Given the description of an element on the screen output the (x, y) to click on. 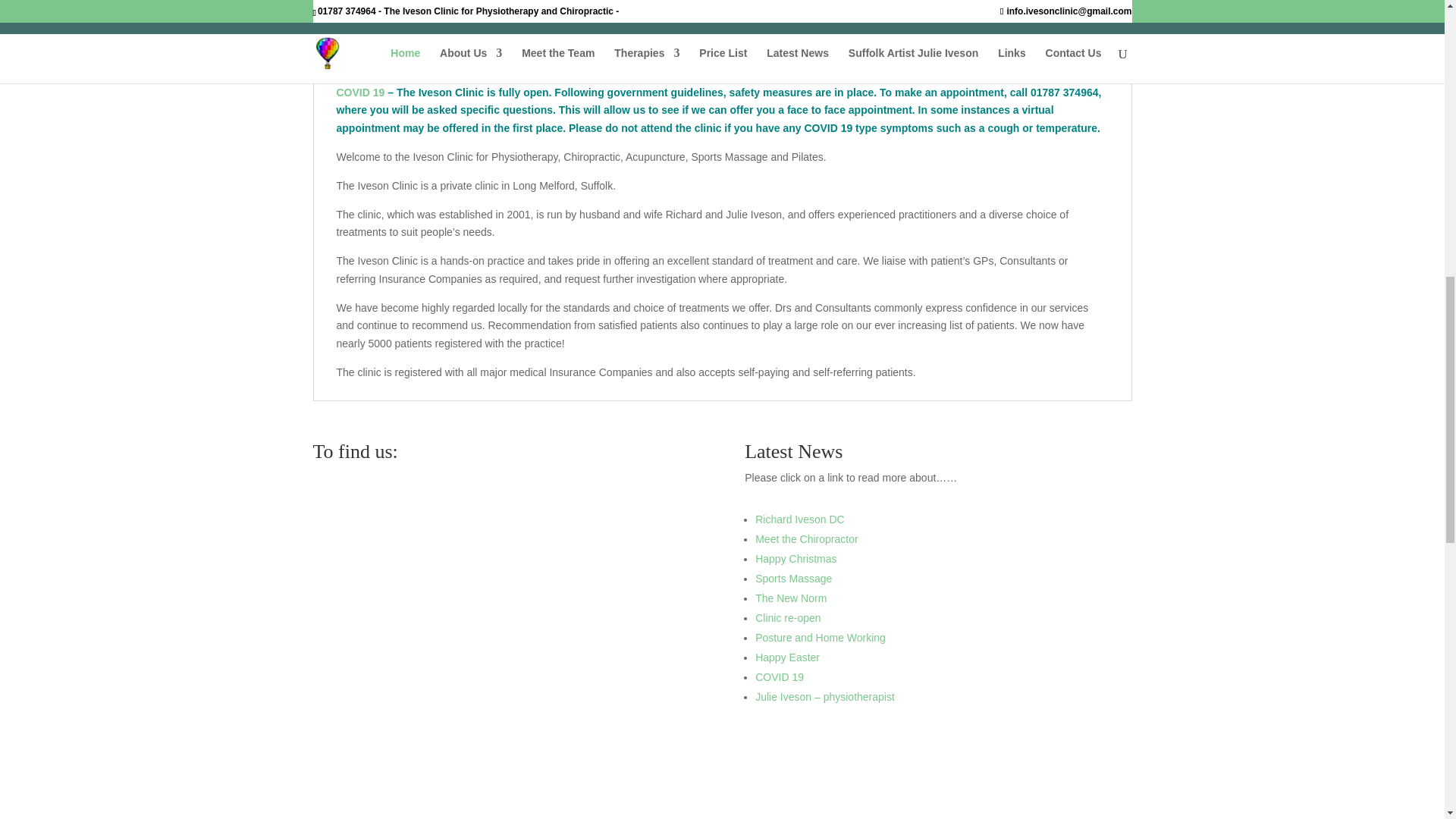
Meet the Chiropractor (806, 539)
COVID 19 (360, 92)
About Us (452, 52)
Sports Massage (793, 578)
Happy Christmas (795, 558)
Welcome (360, 52)
Posture and Home Working (820, 637)
Happy Easter (787, 657)
Clinic re-open (788, 617)
Richard Iveson DC (799, 519)
The New Norm (791, 598)
Access (540, 52)
